Given the description of an element on the screen output the (x, y) to click on. 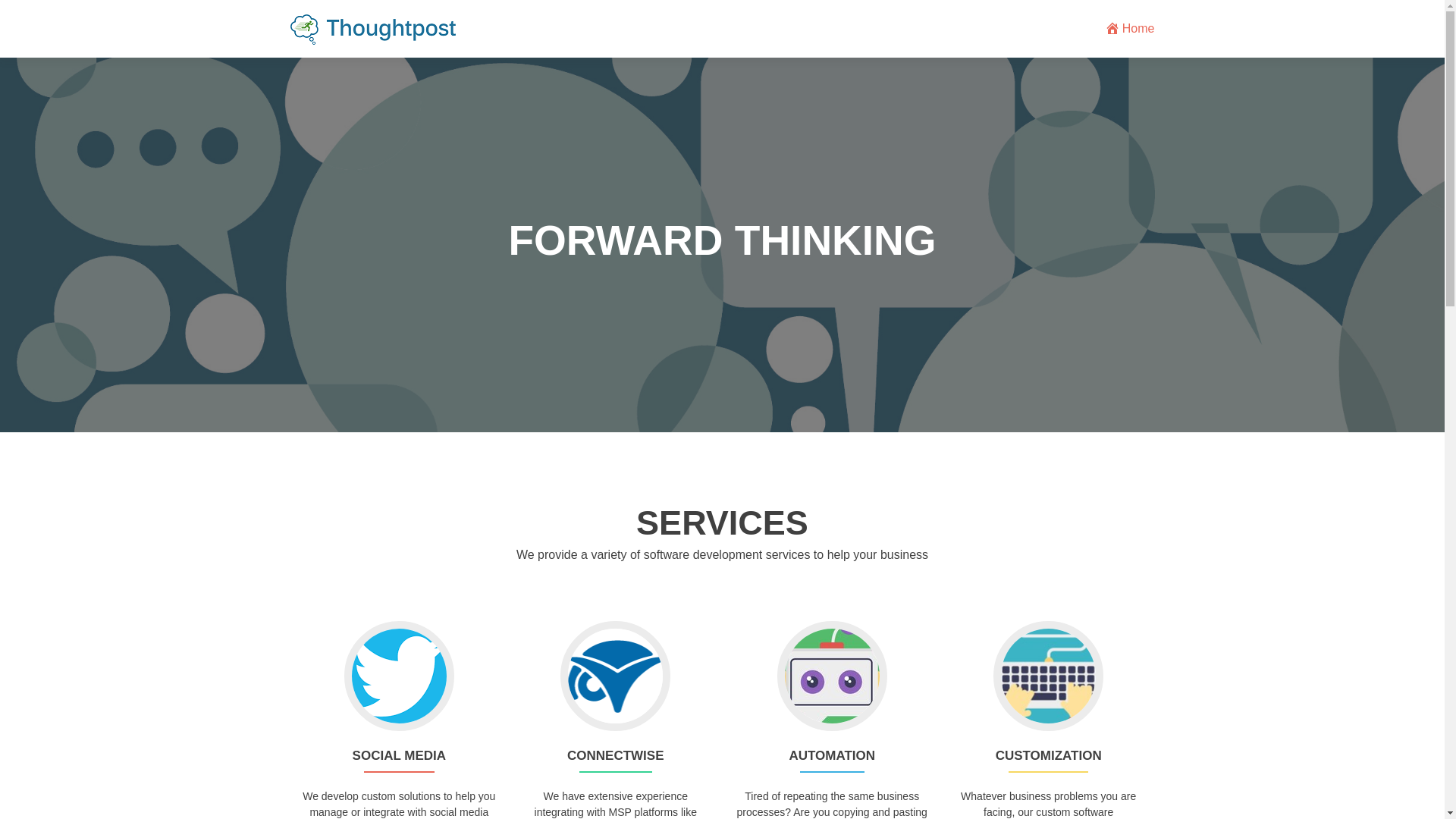
Home (1129, 28)
